Given the description of an element on the screen output the (x, y) to click on. 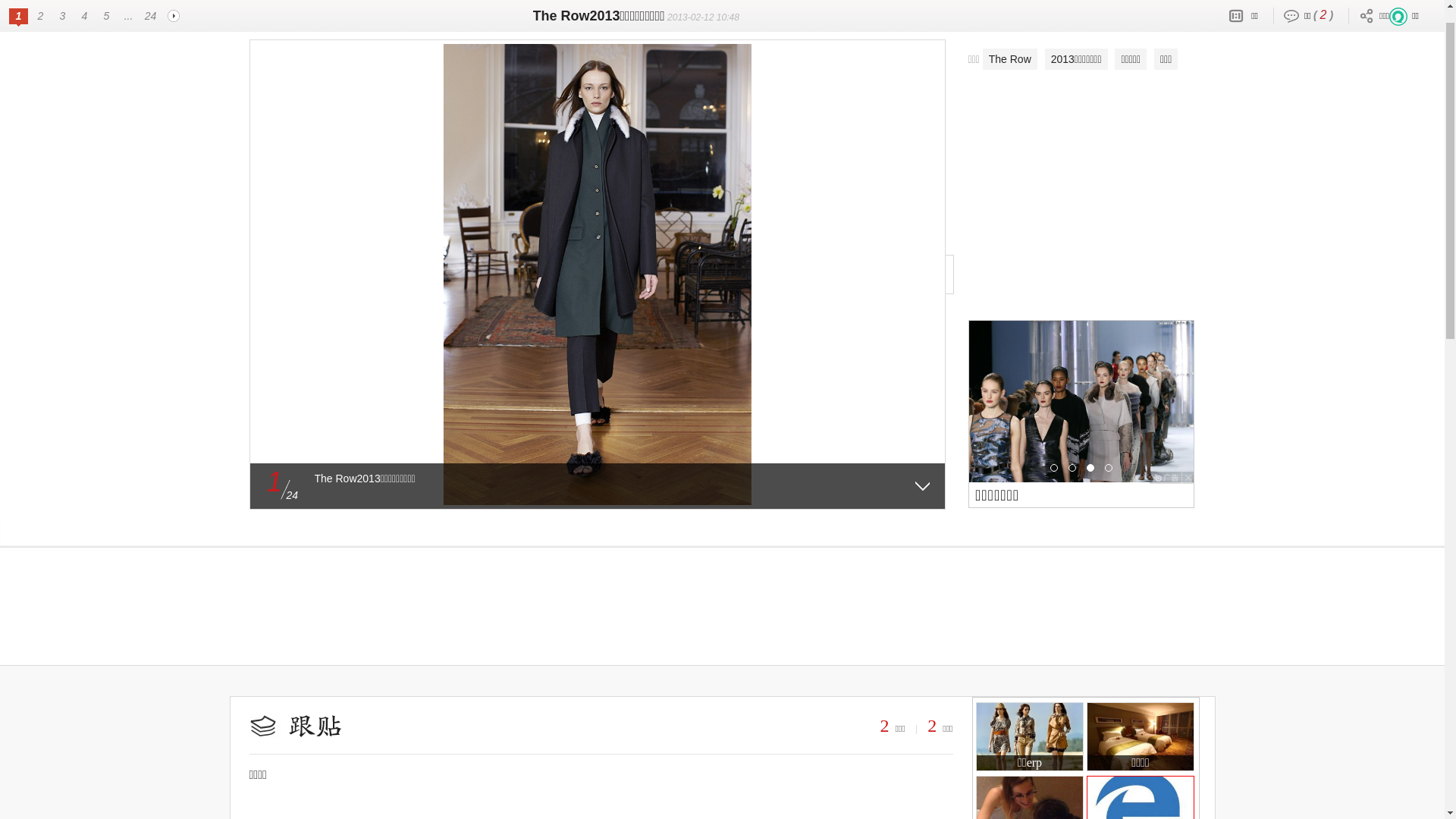
2 Element type: text (886, 755)
2 Element type: text (934, 755)
The Row Element type: text (1009, 89)
